Given the description of an element on the screen output the (x, y) to click on. 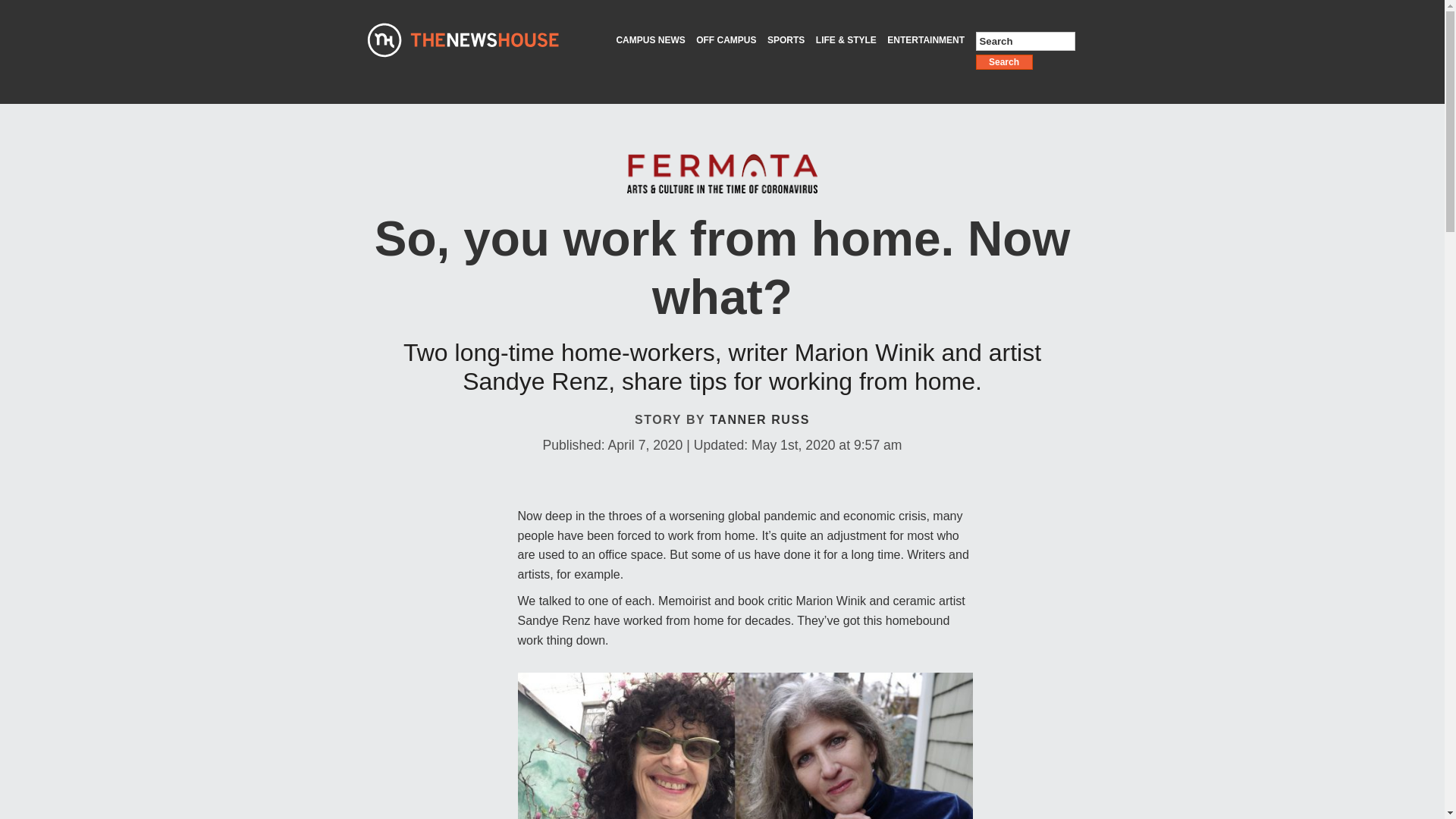
Search (1024, 40)
Search (1024, 40)
ENTERTAINMENT (925, 40)
Posts by Tanner Russ (759, 419)
TANNER RUSS (759, 419)
CAMPUS NEWS (649, 40)
SPORTS (785, 40)
Search (1003, 61)
OFF CAMPUS (726, 40)
